Given the description of an element on the screen output the (x, y) to click on. 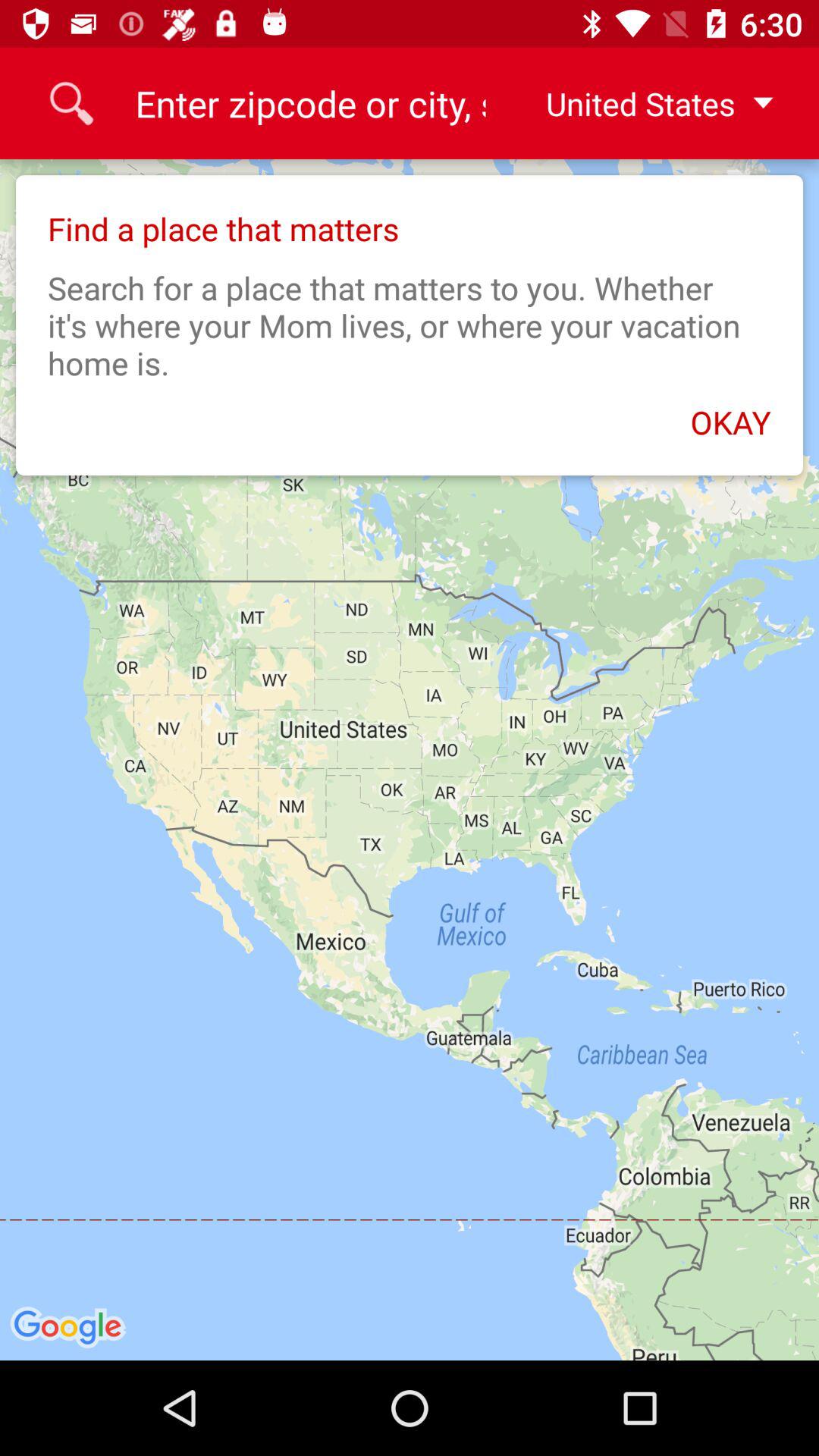
turn on icon to the left of united states item (309, 103)
